Given the description of an element on the screen output the (x, y) to click on. 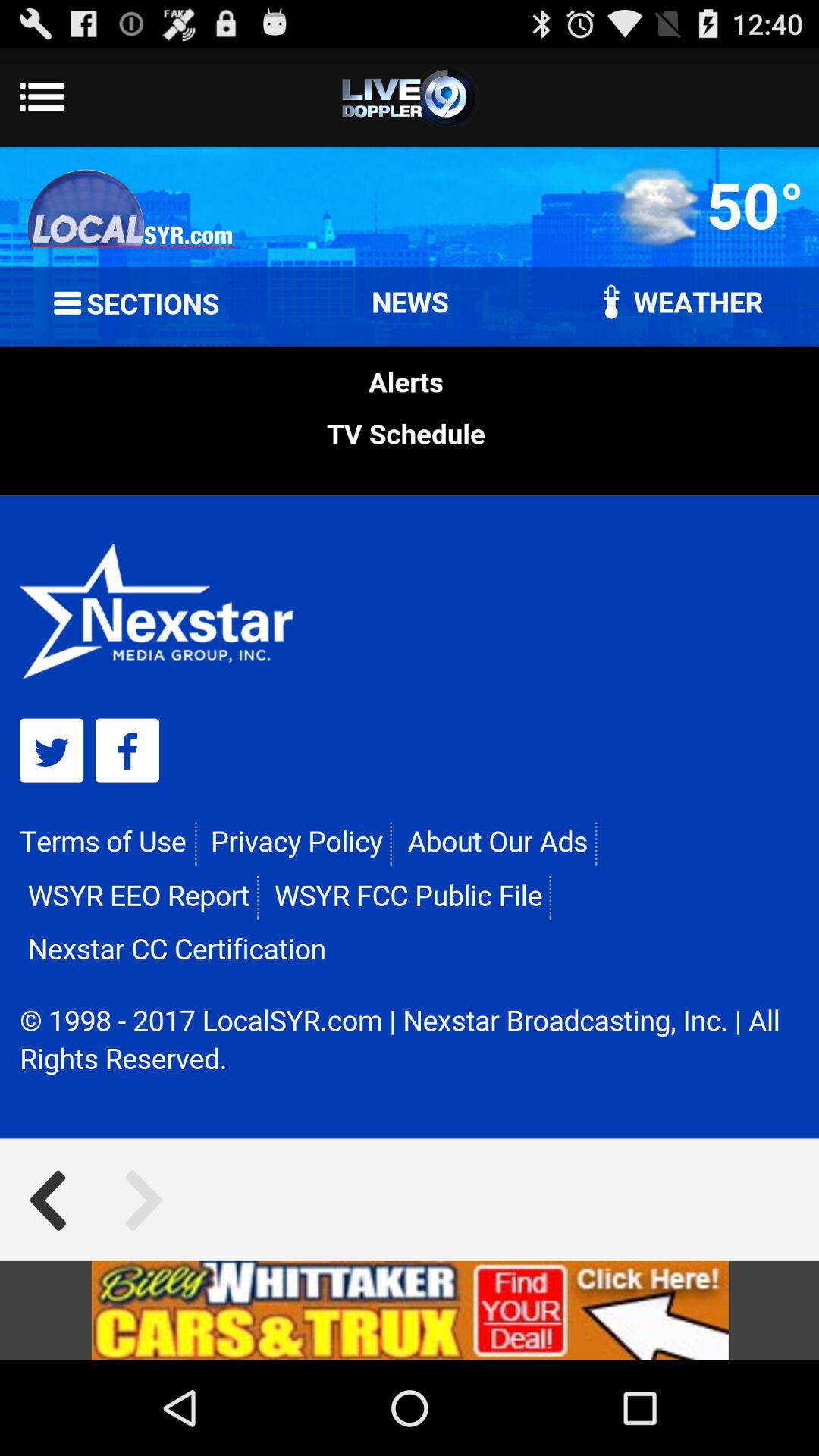
open menu (409, 97)
